Given the description of an element on the screen output the (x, y) to click on. 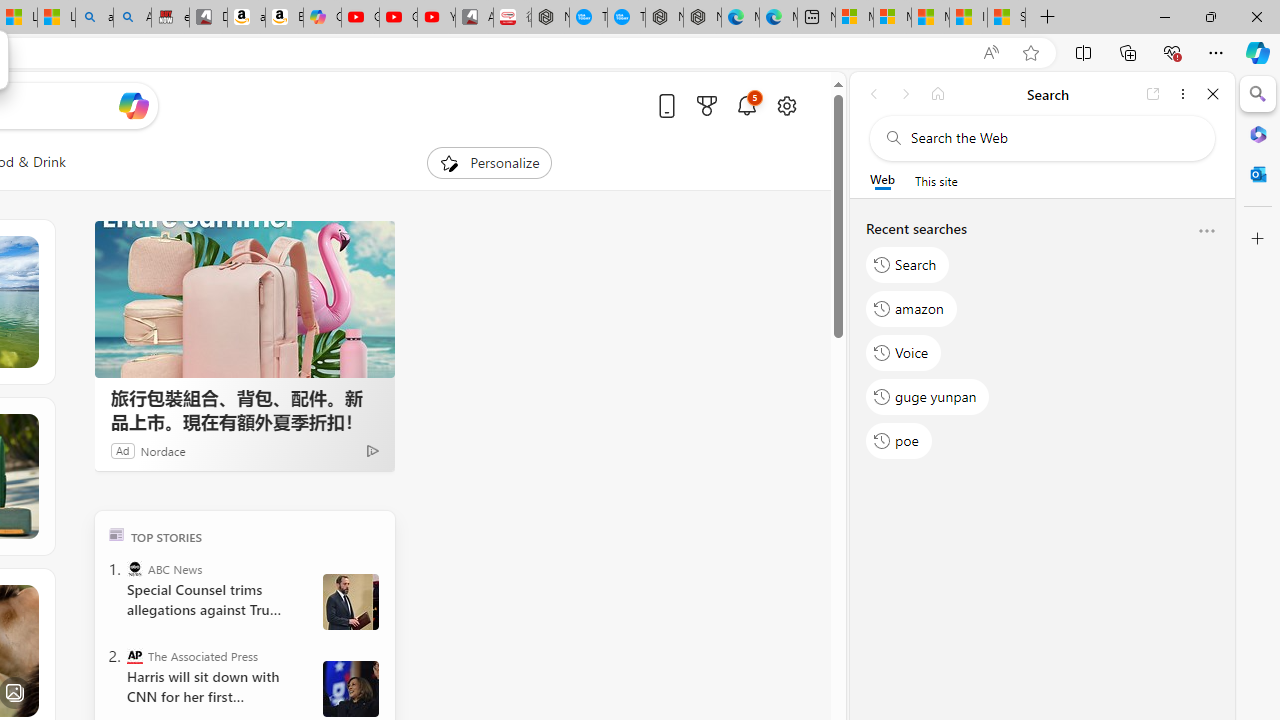
Home (938, 93)
Nordace - My Account (550, 17)
Web scope (882, 180)
Microsoft account | Privacy (892, 17)
Open settings (786, 105)
Copilot (321, 17)
I Gained 20 Pounds of Muscle in 30 Days! | Watch (967, 17)
